Given the description of an element on the screen output the (x, y) to click on. 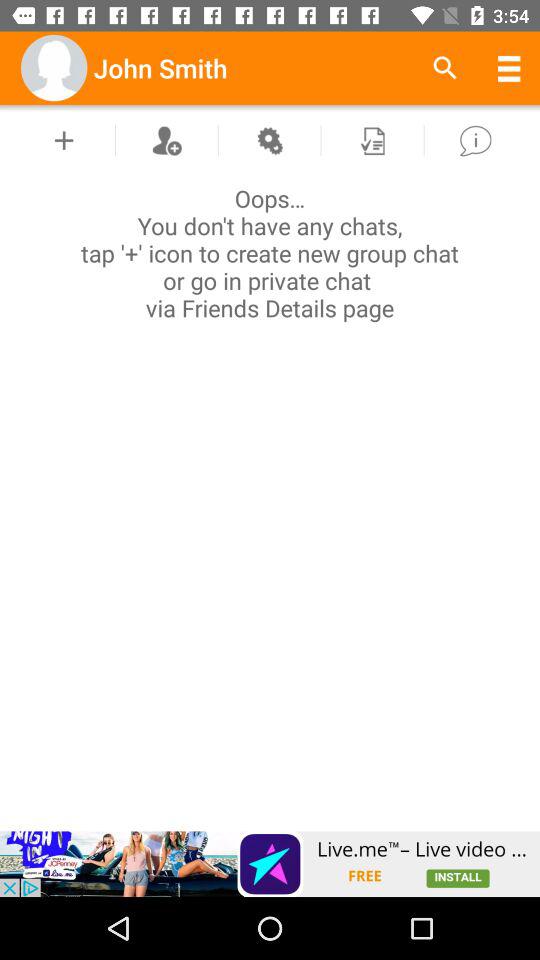
open settings (269, 140)
